Given the description of an element on the screen output the (x, y) to click on. 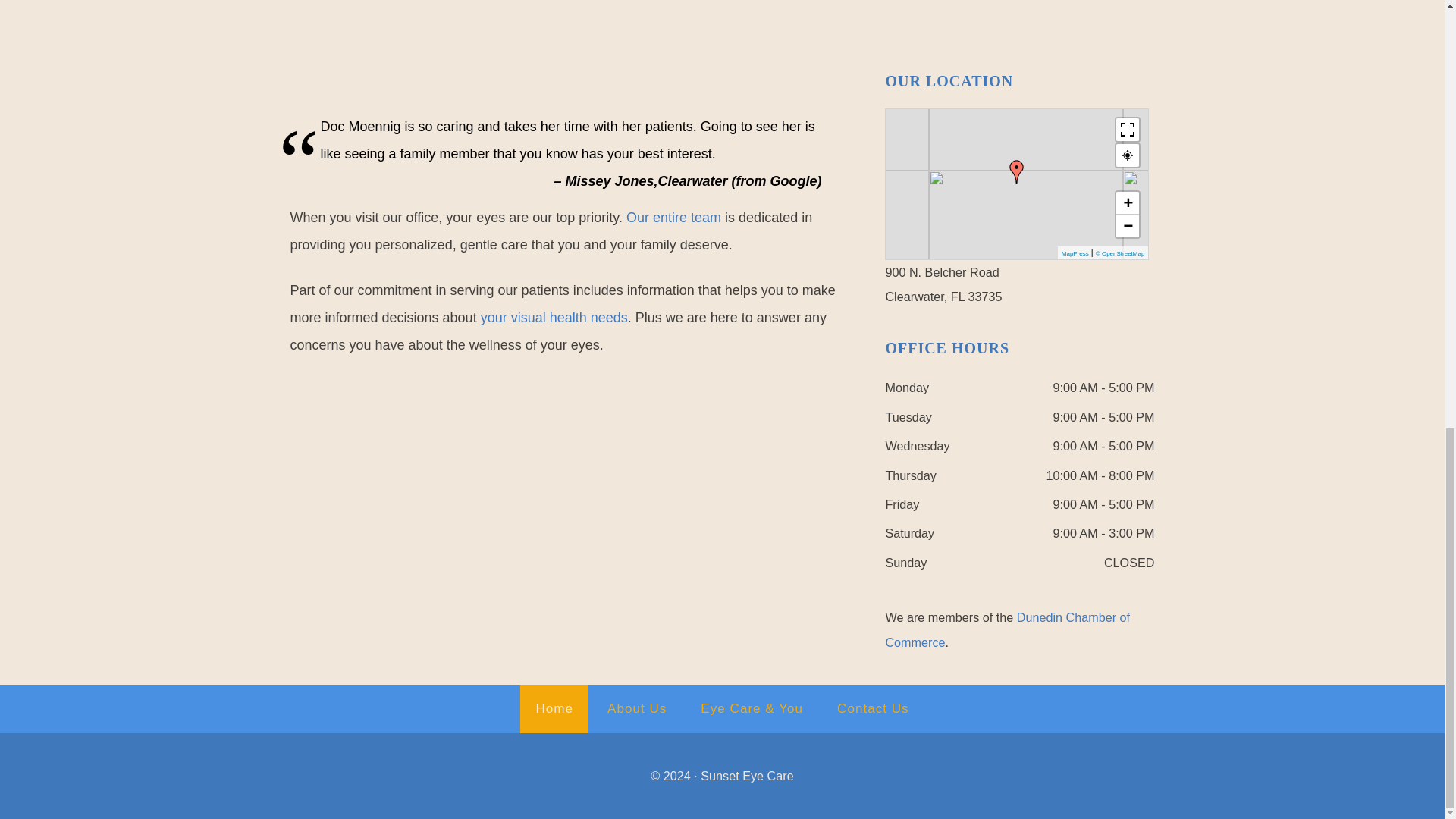
Home (553, 708)
Your Location (1127, 155)
Our entire team (673, 217)
Dunedin Chamber of Commerce (1007, 629)
MapPress (1075, 253)
Contact Us (873, 708)
your visual health needs (553, 317)
About Us (636, 708)
Toggle fullscreen view (1127, 129)
Sunset Eye Care (746, 775)
